Given the description of an element on the screen output the (x, y) to click on. 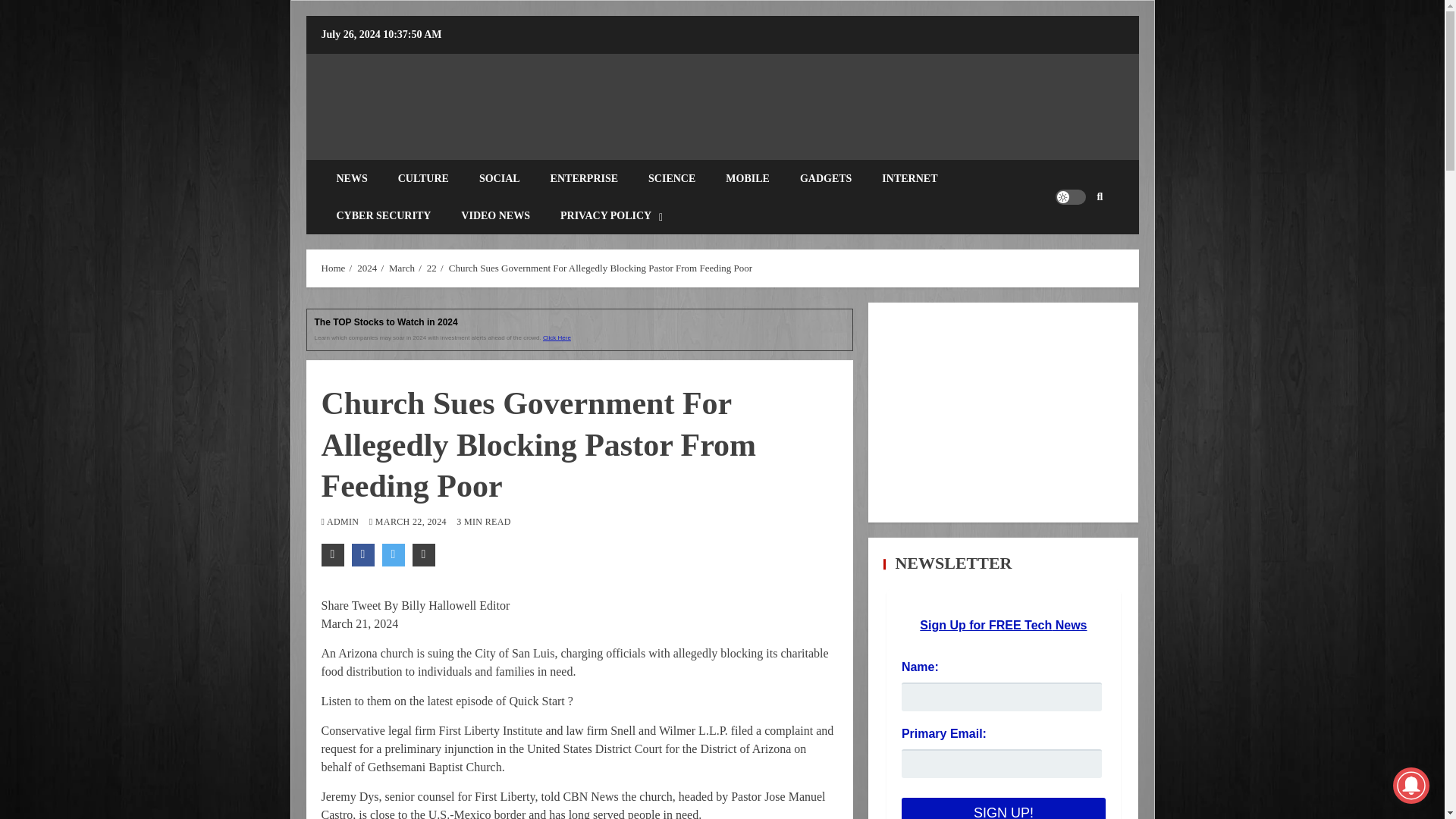
GADGETS (825, 178)
CULTURE (423, 178)
MOBILE (747, 178)
Sign Up! (1003, 808)
SOCIAL (499, 178)
CYBER SECURITY (383, 215)
NEWS (351, 178)
2024 (366, 267)
ADMIN (343, 521)
PRIVACY POLICY (611, 215)
INTERNET (909, 178)
VIDEO NEWS (494, 215)
